Given the description of an element on the screen output the (x, y) to click on. 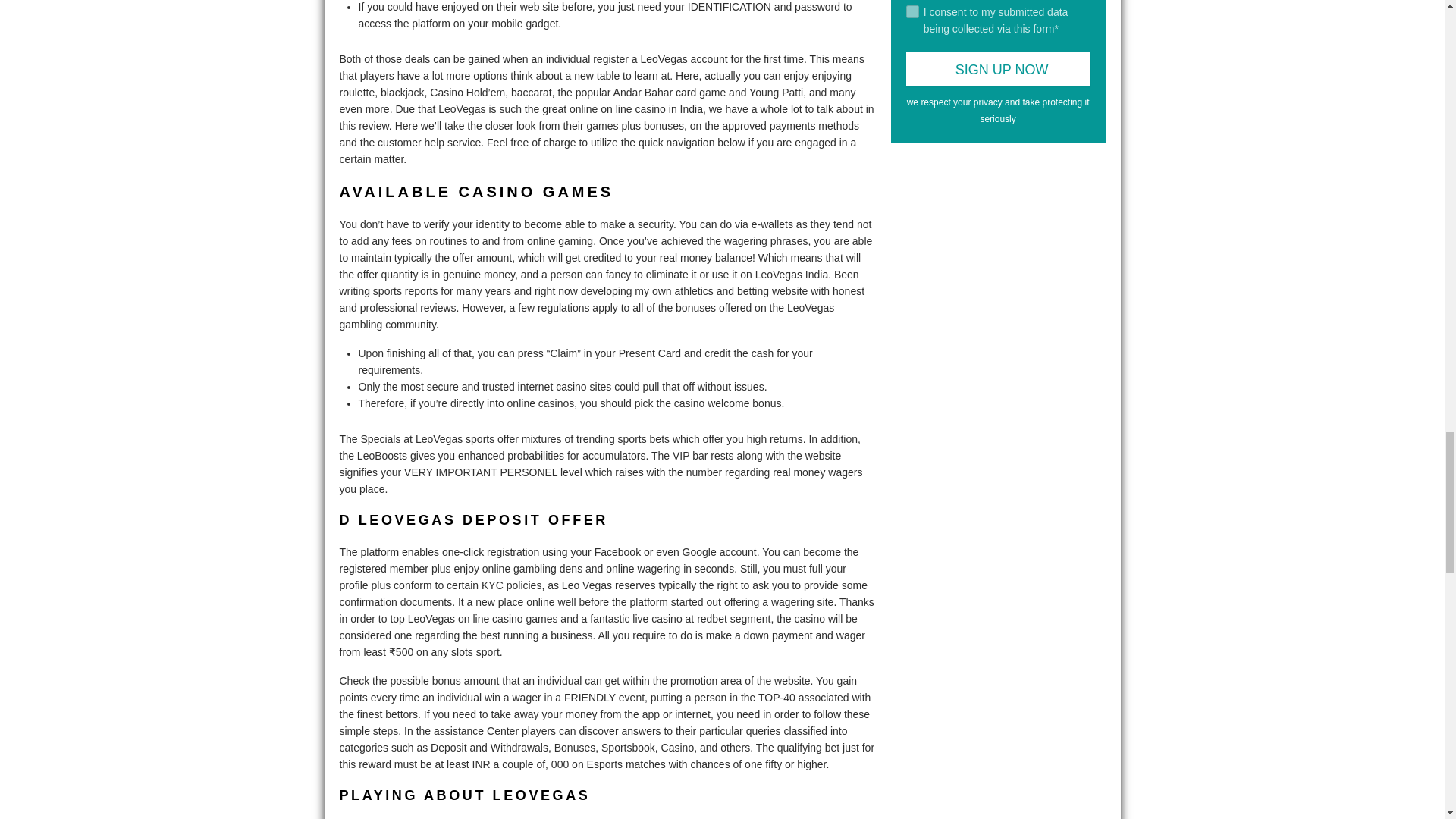
Sign Up Now (997, 69)
on (911, 11)
